Given the description of an element on the screen output the (x, y) to click on. 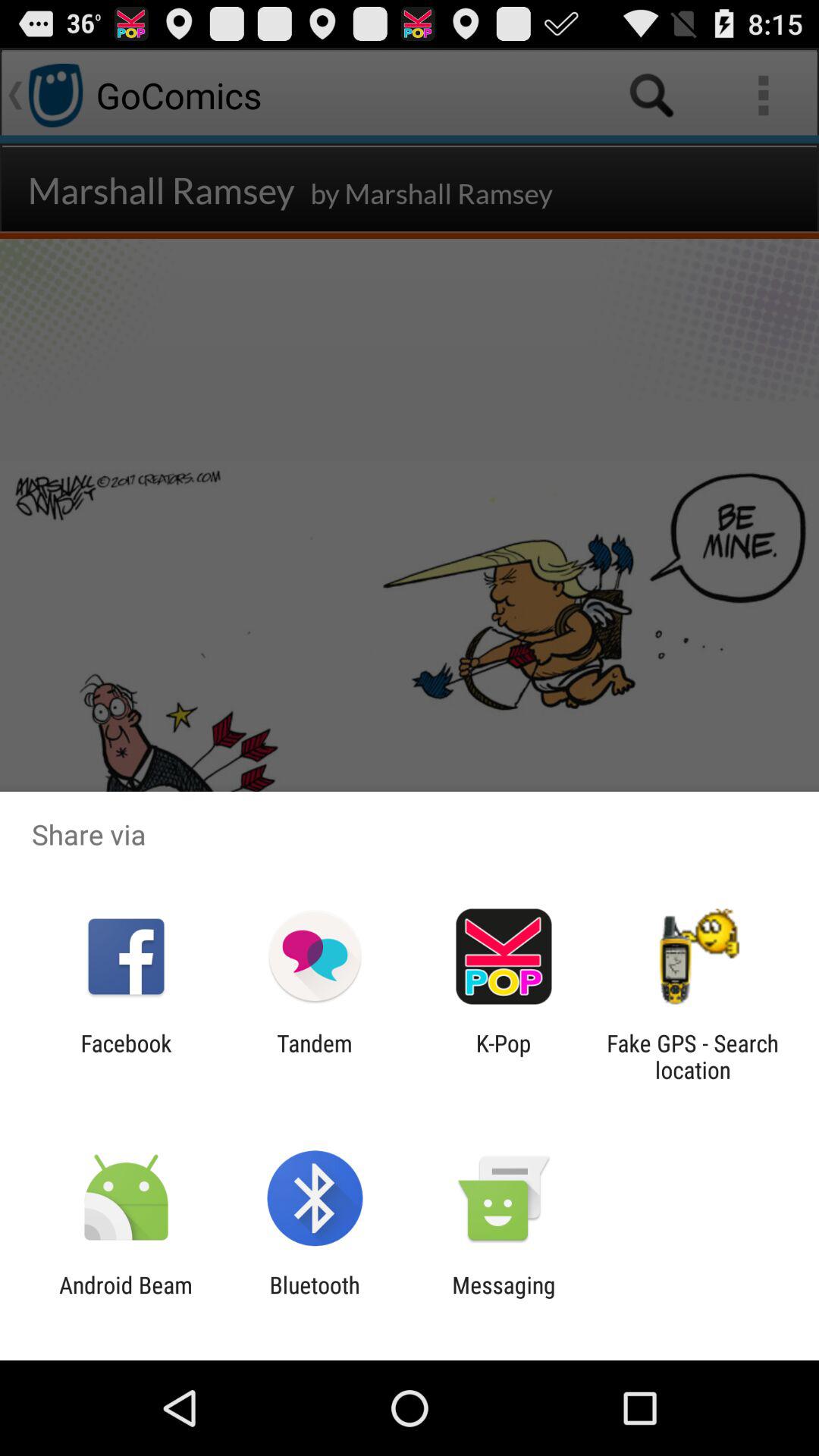
turn on the app next to bluetooth icon (503, 1298)
